Given the description of an element on the screen output the (x, y) to click on. 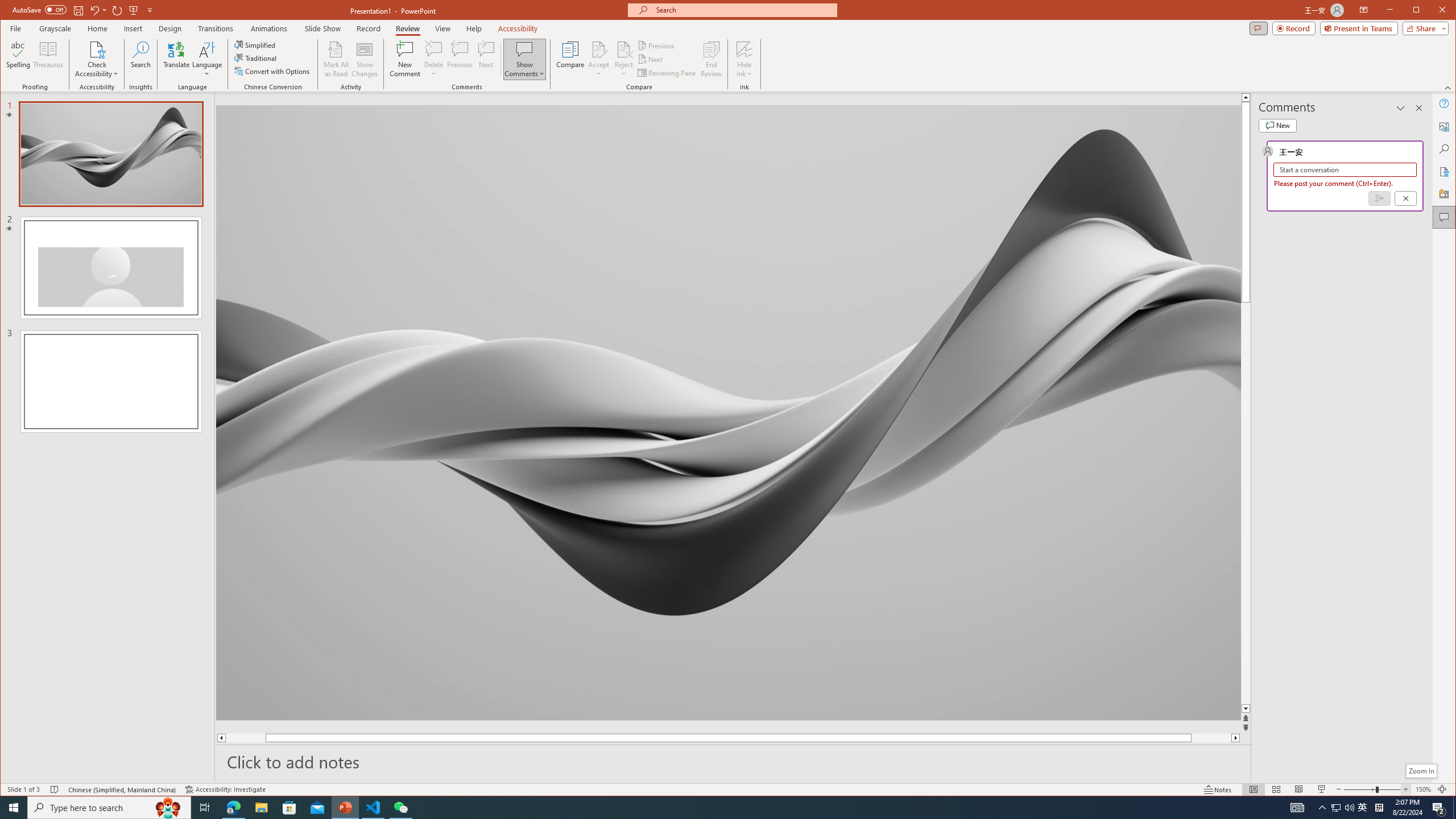
Wavy 3D art (727, 412)
Language (207, 59)
